Given the description of an element on the screen output the (x, y) to click on. 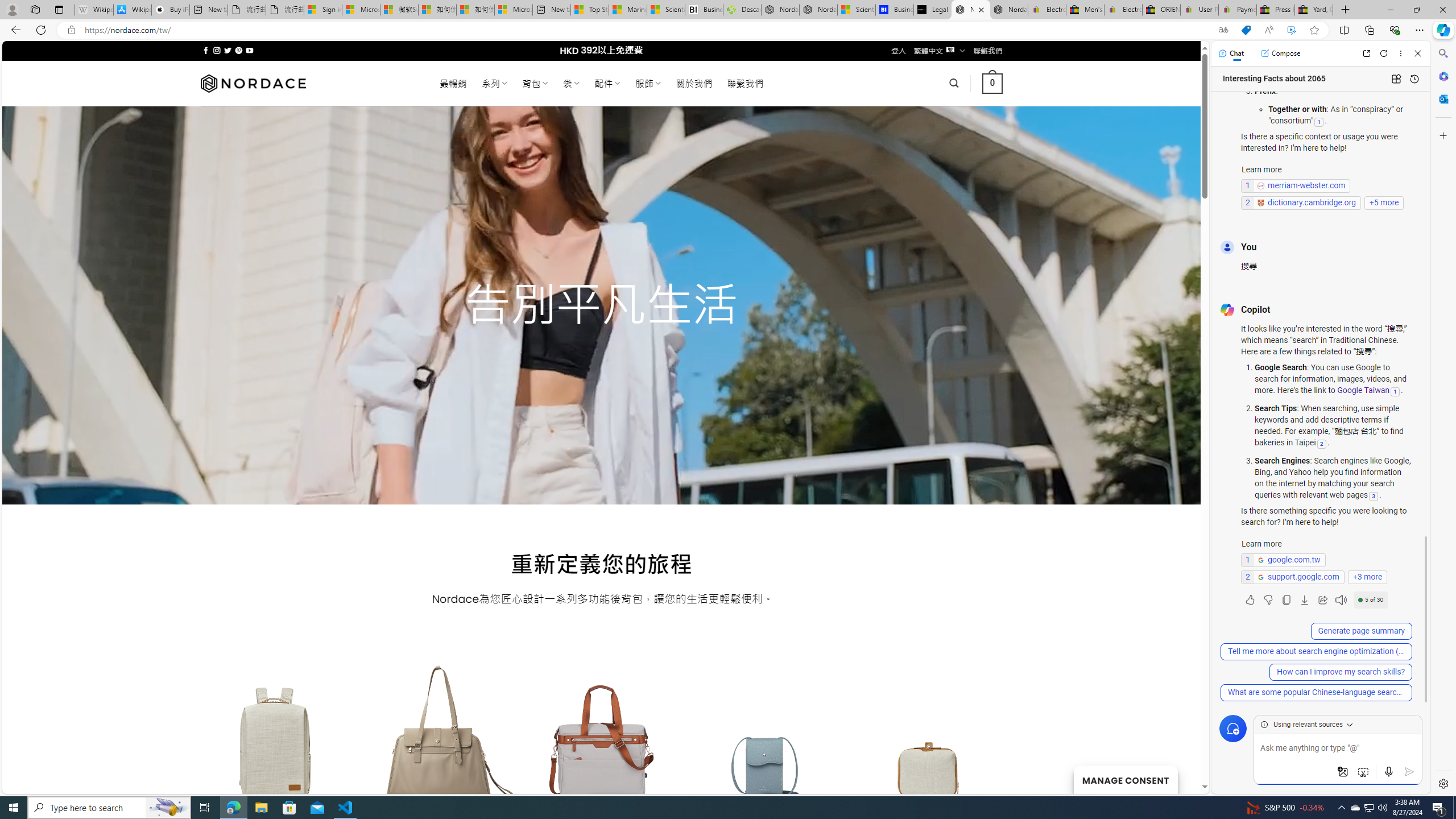
User Privacy Notice | eBay (1198, 9)
Show translate options (1222, 29)
Minimize Search pane (1442, 53)
